Given the description of an element on the screen output the (x, y) to click on. 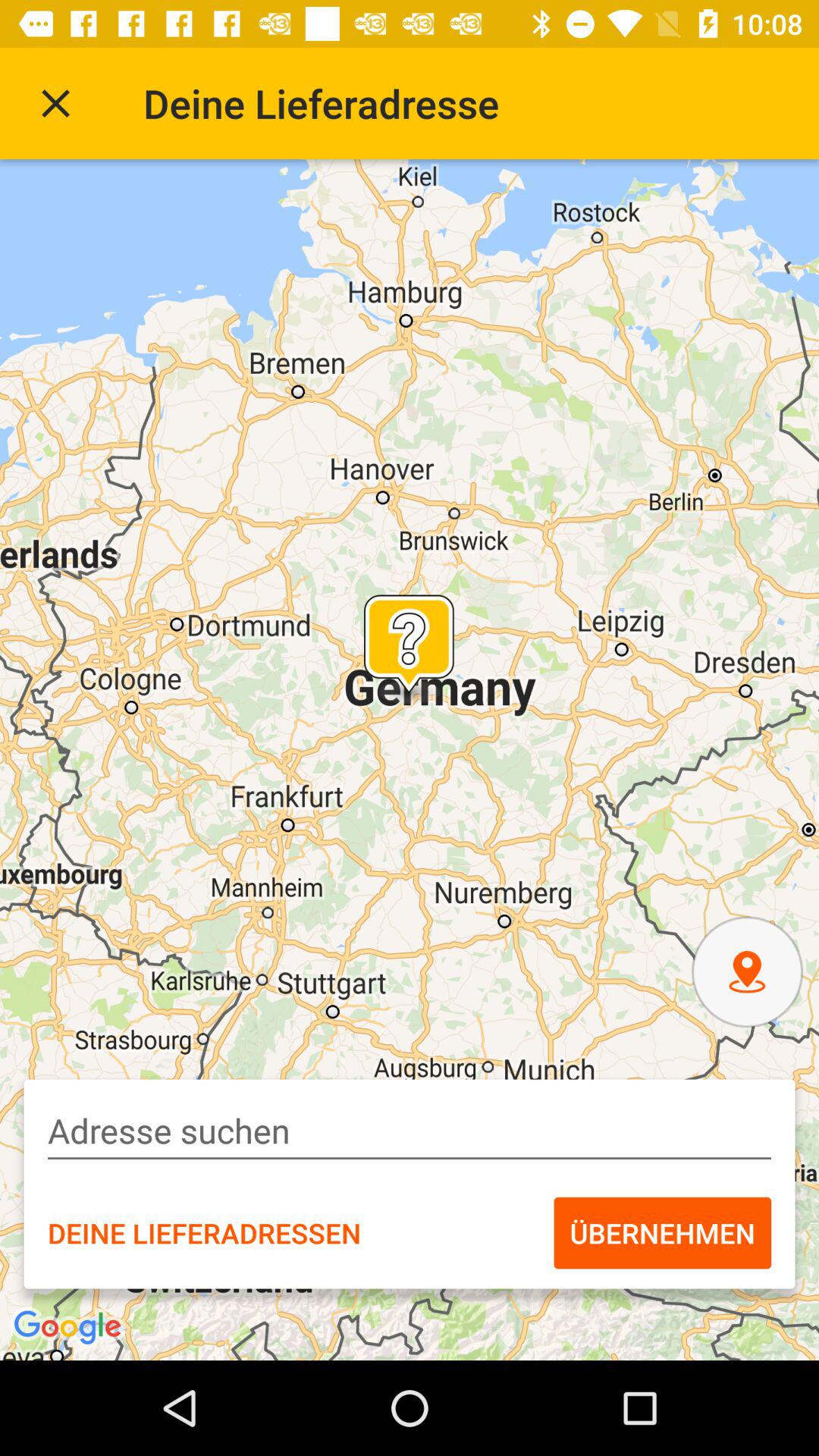
exit screen (55, 103)
